Given the description of an element on the screen output the (x, y) to click on. 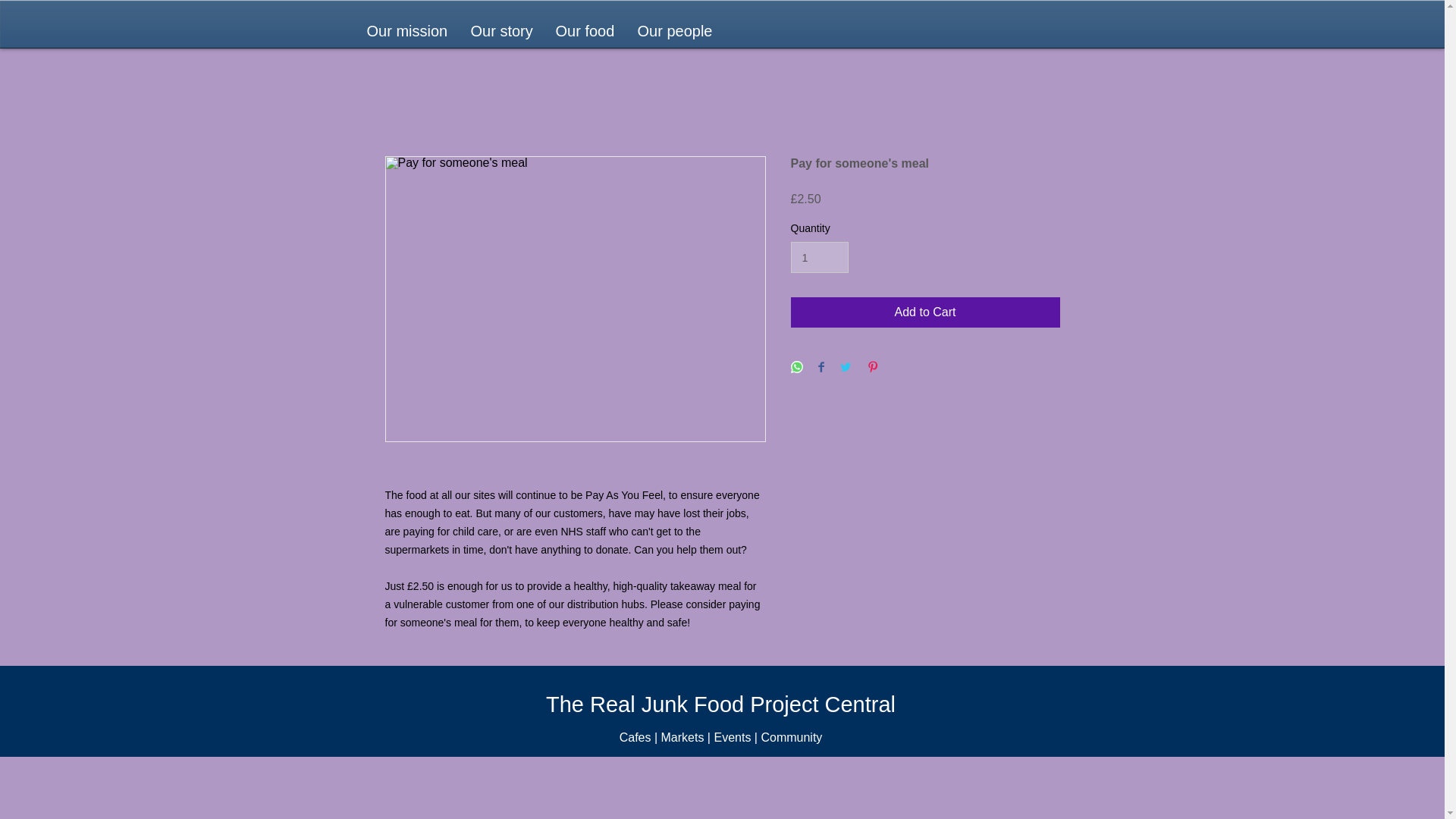
Add to Cart (924, 312)
Our people (674, 31)
Our mission (406, 31)
Our story (502, 31)
1 (818, 256)
Our food (585, 31)
